Given the description of an element on the screen output the (x, y) to click on. 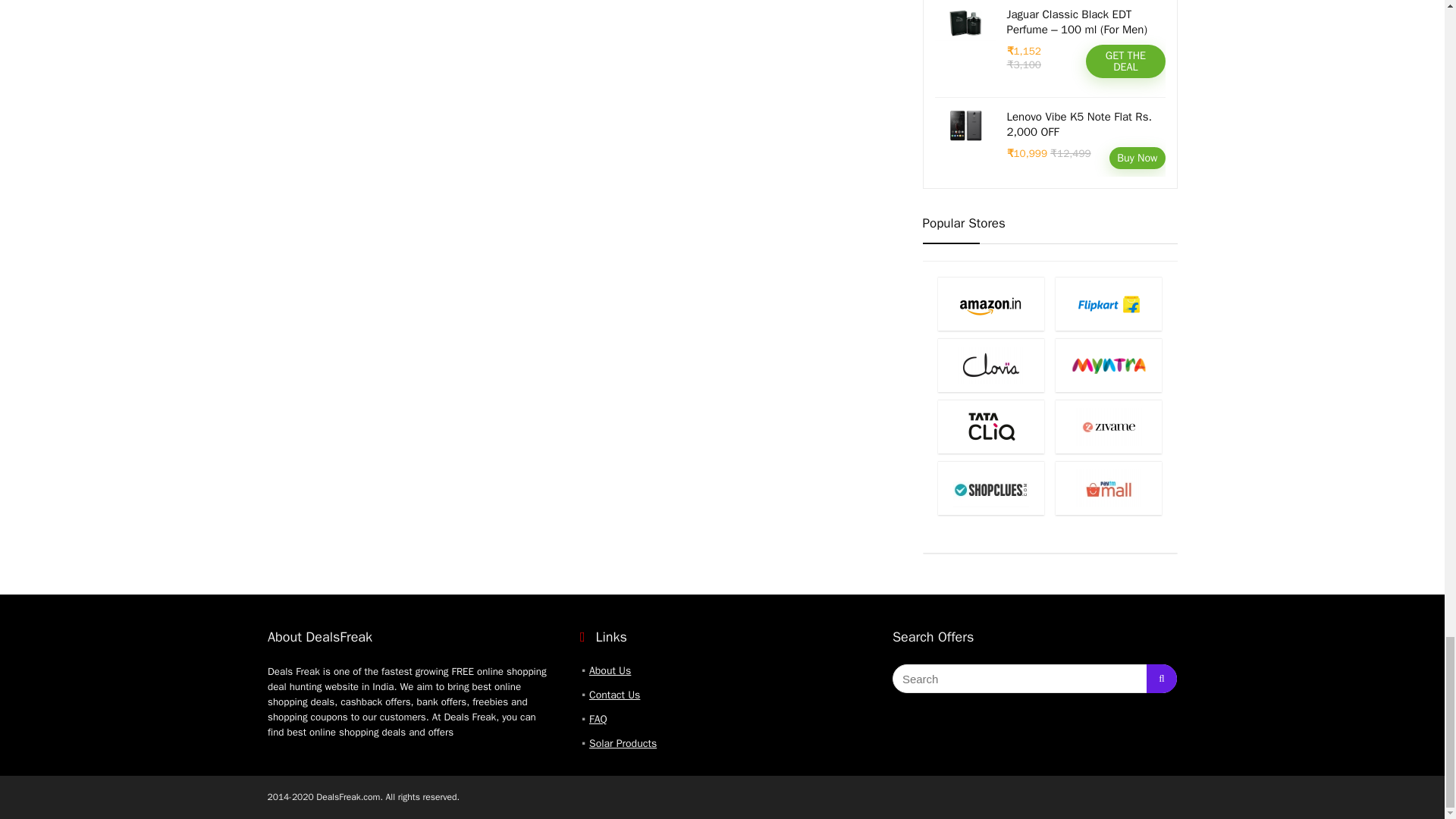
View all post filed under TataCliQ (990, 426)
View all post filed under Zivame (1108, 426)
View all post filed under Flipkart (1108, 303)
View all post filed under Shopclues (990, 488)
View all post filed under Amazon (990, 303)
View all post filed under PaytmMall (1108, 488)
View all post filed under Clovia (990, 365)
View all post filed under Myntra (1108, 365)
